Given the description of an element on the screen output the (x, y) to click on. 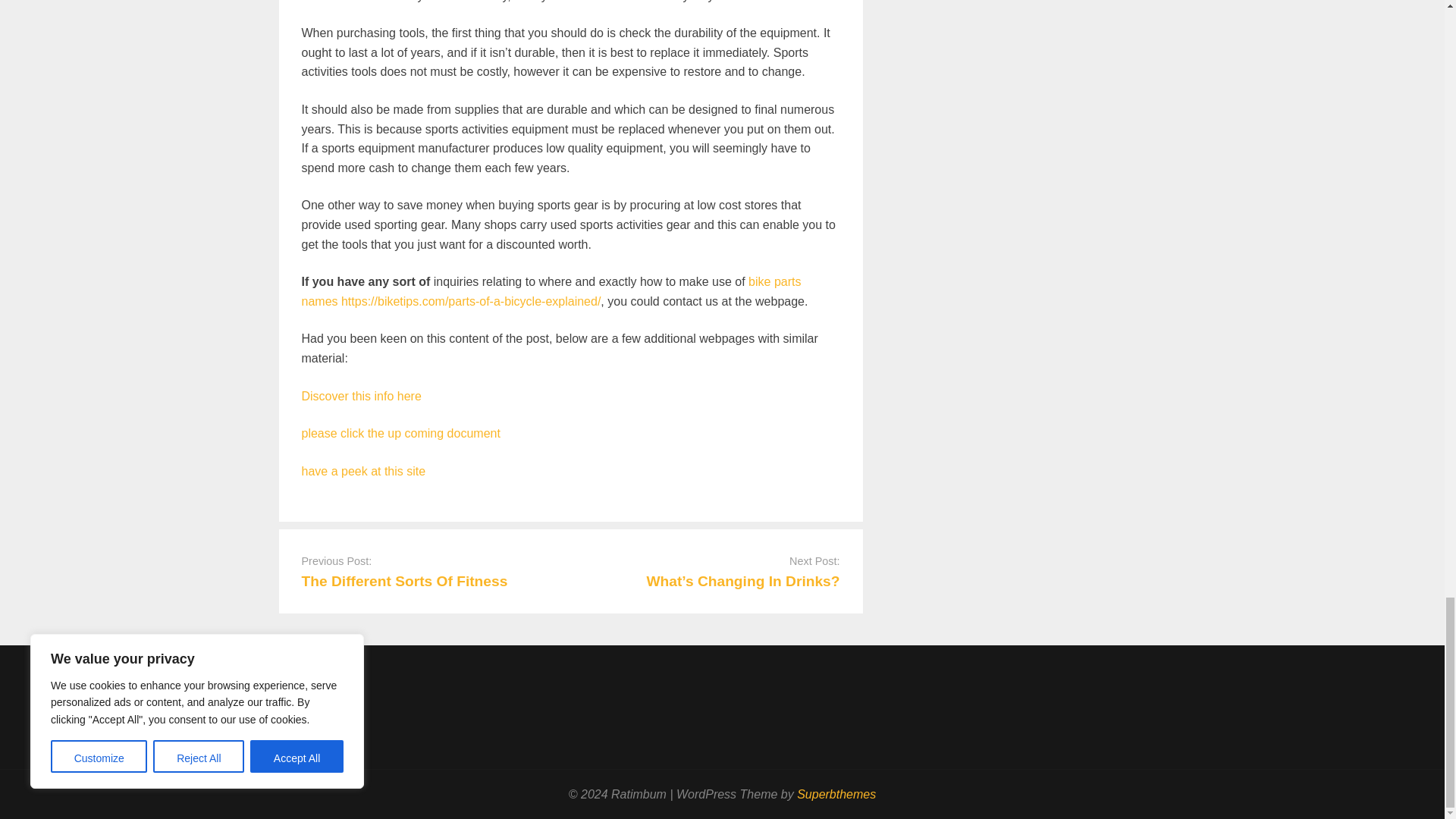
please click the up coming document (400, 432)
Discover this info here (361, 395)
The Different Sorts Of Fitness (404, 580)
mental health (363, 1)
have a peek at this site (363, 471)
